Given the description of an element on the screen output the (x, y) to click on. 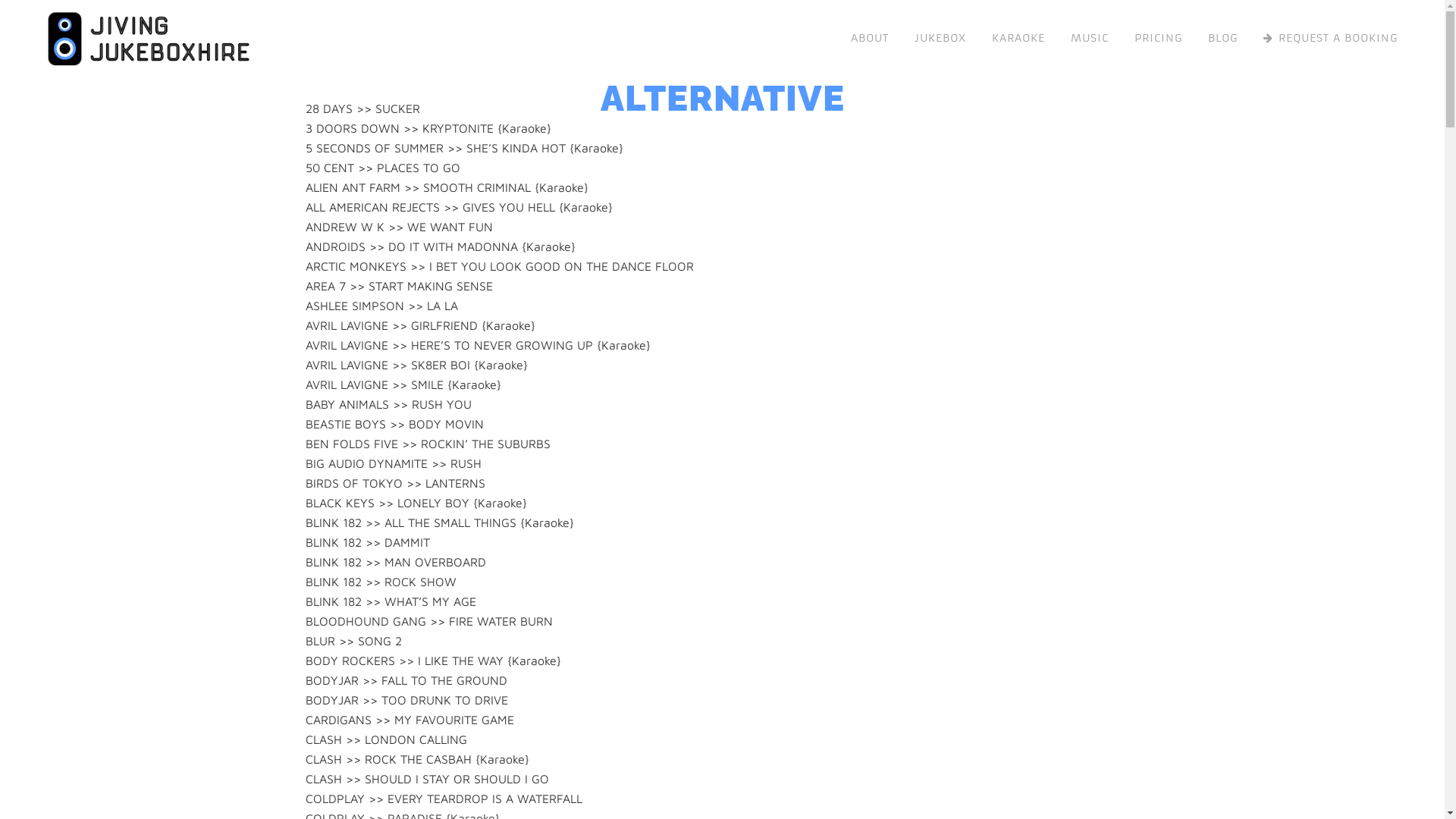
REQUEST A BOOKING Element type: text (1330, 37)
BLOG Element type: text (1222, 37)
KARAOKE Element type: text (1018, 37)
PRICING Element type: text (1158, 37)
JUKEBOX Element type: text (940, 37)
ABOUT Element type: text (869, 37)
MUSIC Element type: text (1089, 37)
